Given the description of an element on the screen output the (x, y) to click on. 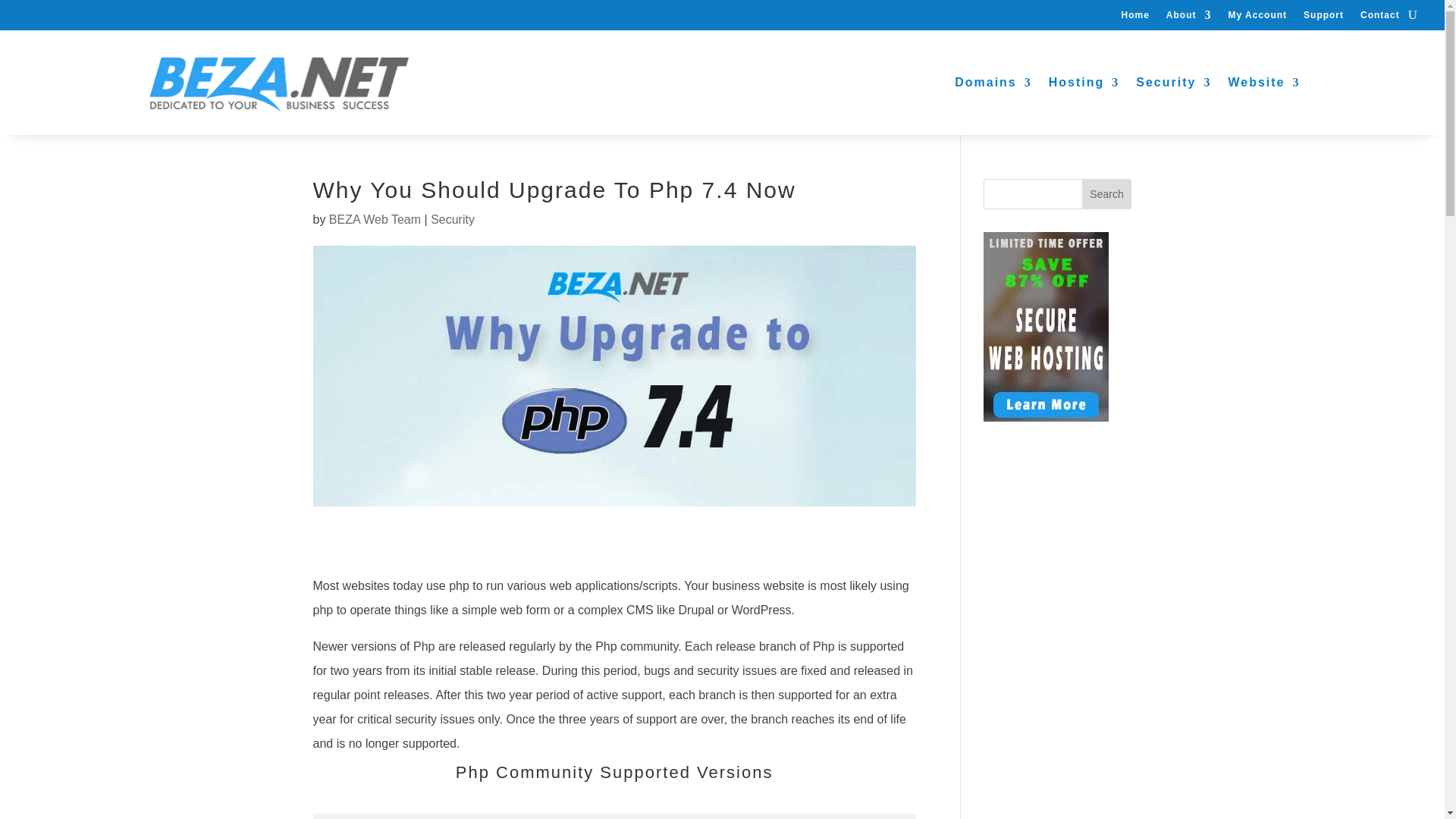
Online Security For Your Business (1173, 82)
Domains (993, 82)
Home (1134, 17)
Secure Business Web Hosting (1083, 82)
My Account (1257, 17)
Support (1323, 17)
About (1188, 17)
Find the right solution for your business website (1263, 82)
Contact (1379, 17)
Search (1106, 194)
